Given the description of an element on the screen output the (x, y) to click on. 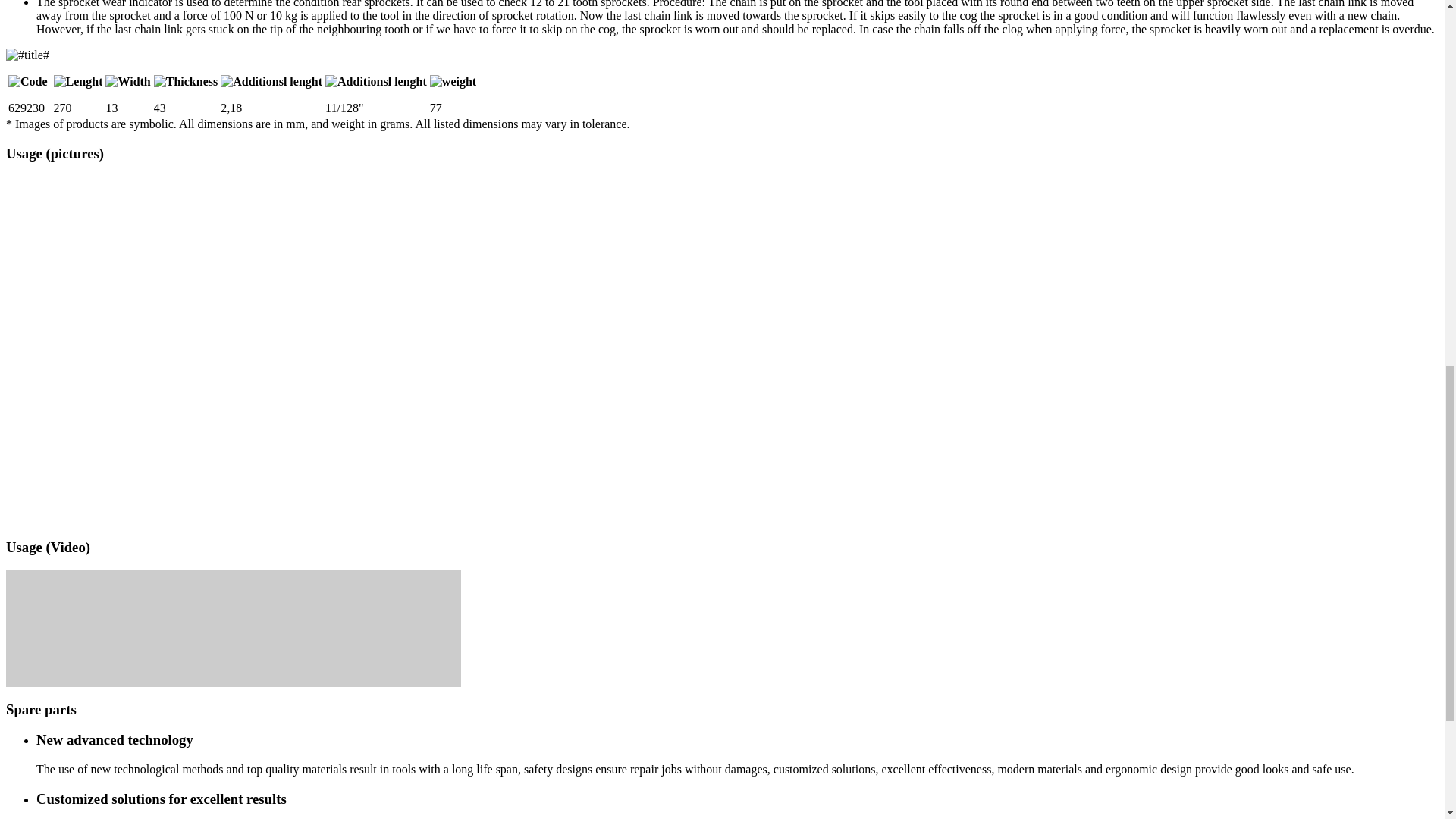
Additionsl lenght (375, 81)
Width (126, 81)
Thickness (185, 81)
Lenght (78, 81)
Additionsl lenght (271, 81)
Code (28, 81)
weight (452, 81)
